Given the description of an element on the screen output the (x, y) to click on. 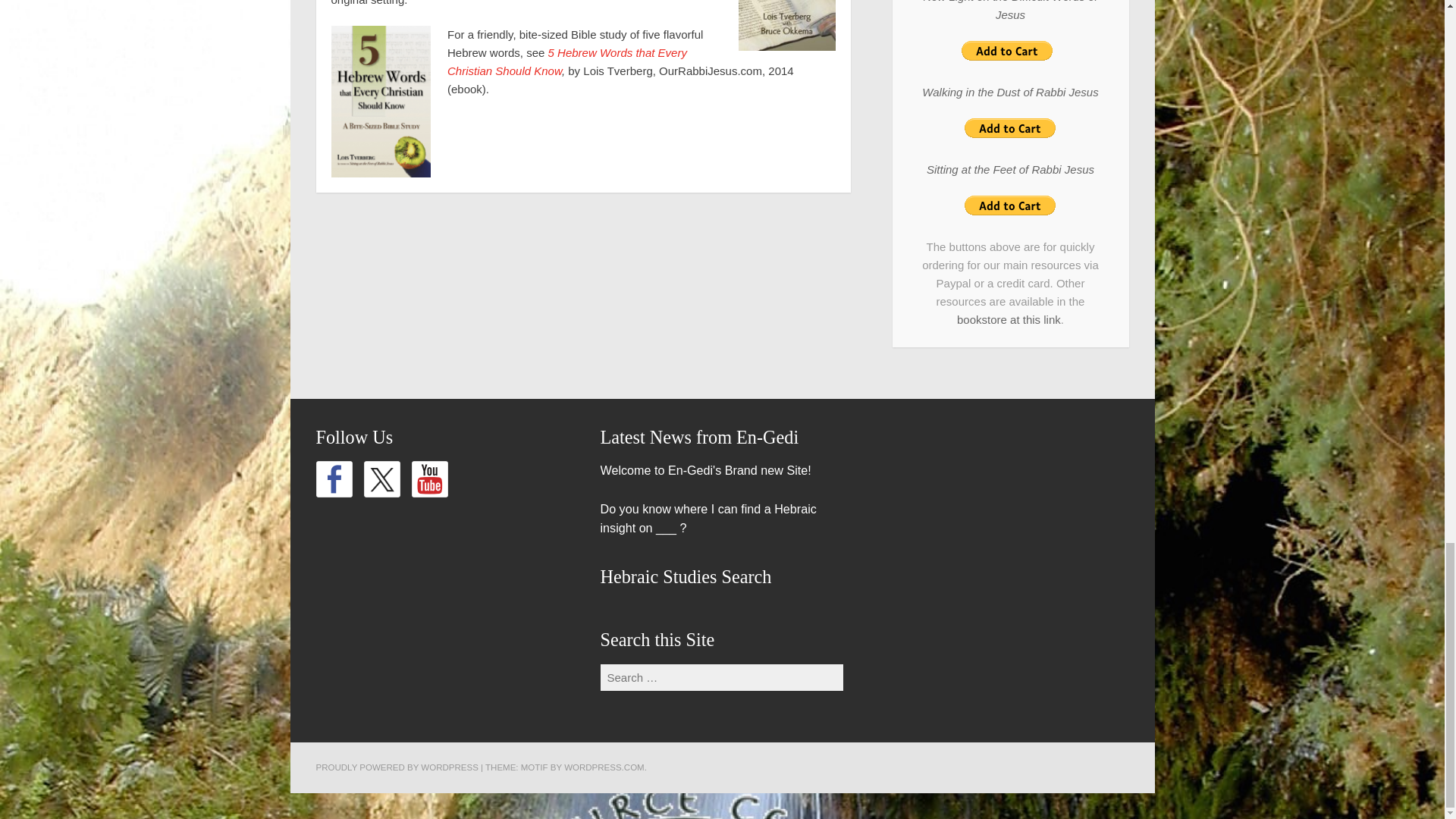
Follow us on Twitter (382, 479)
Follow us on Facebook (333, 479)
A Semantic Personal Publishing Platform (396, 767)
Find us on YouTube (428, 479)
